Given the description of an element on the screen output the (x, y) to click on. 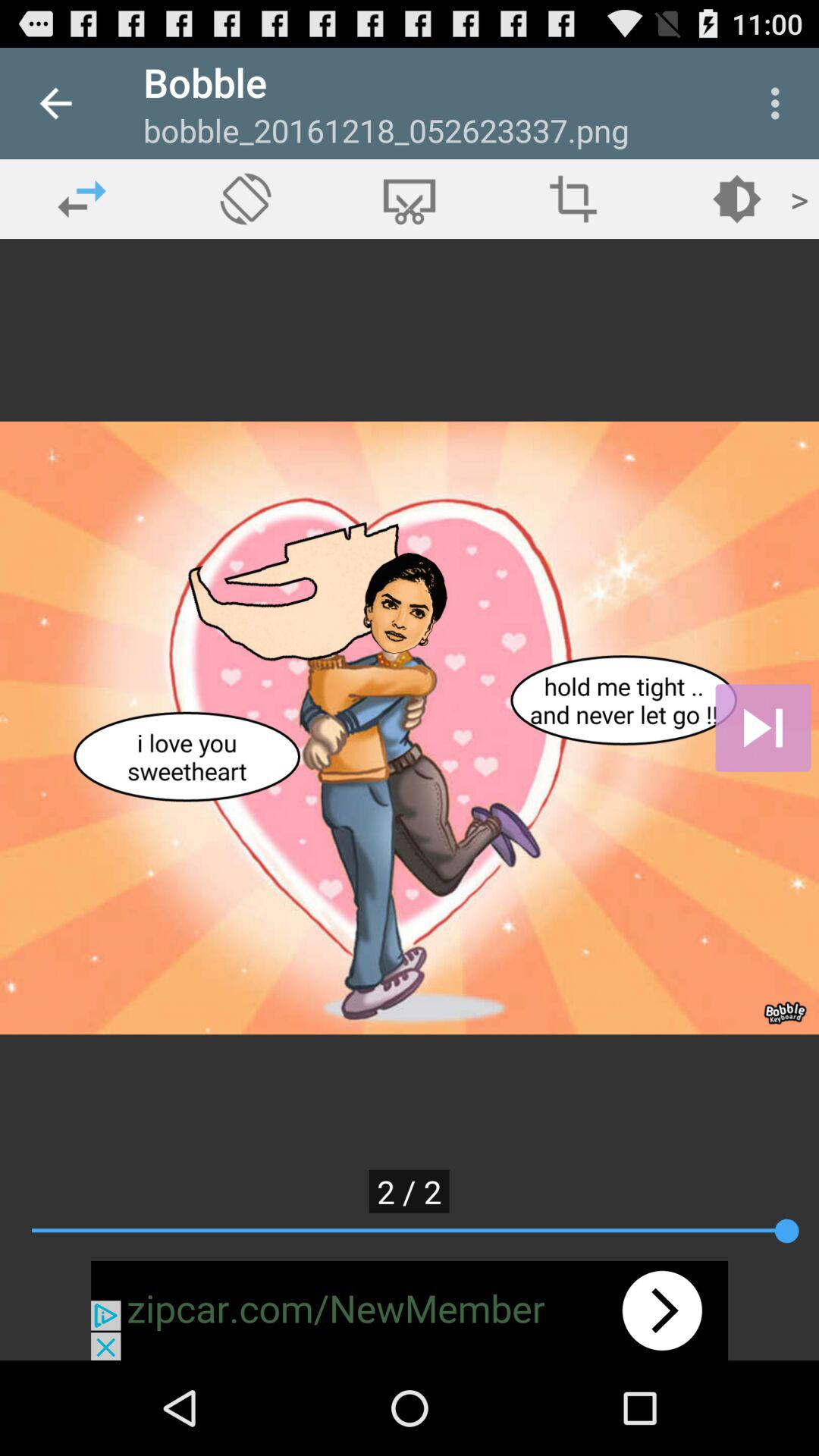
select an area (573, 198)
